Given the description of an element on the screen output the (x, y) to click on. 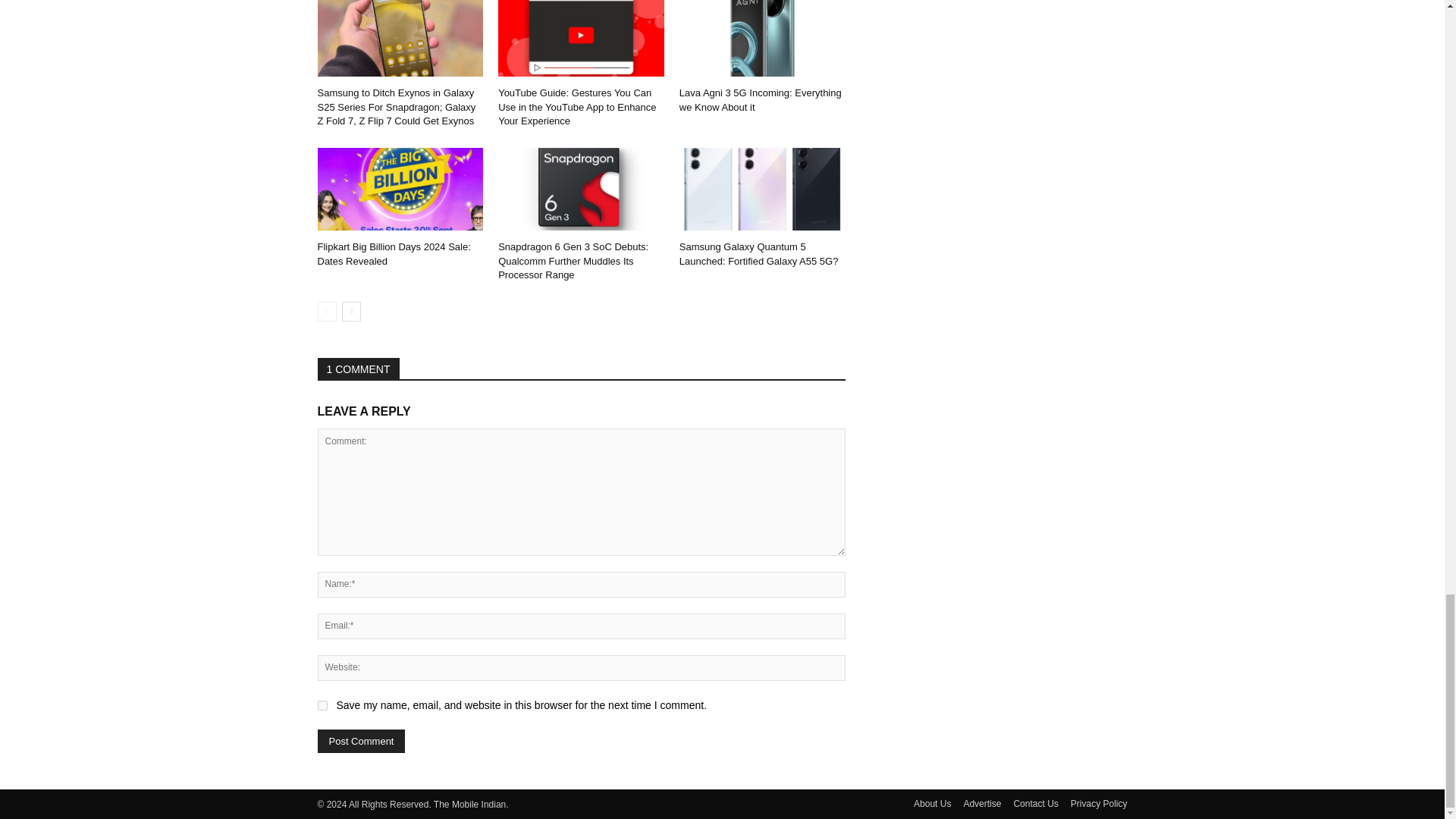
Post Comment (360, 740)
yes (321, 705)
